Given the description of an element on the screen output the (x, y) to click on. 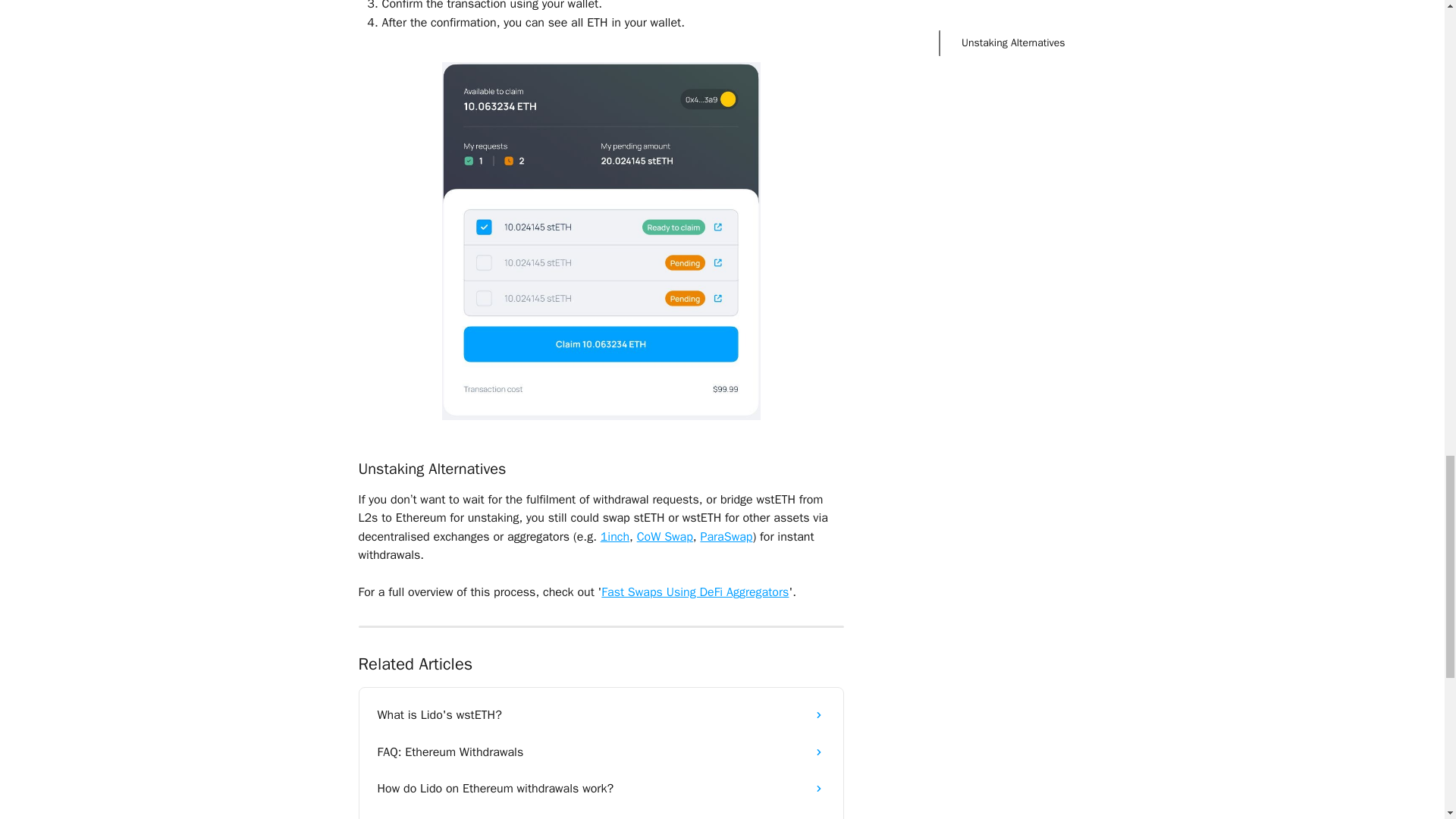
Swap to ETH using 1inch (601, 813)
CoW Swap (665, 536)
What is Lido's wstETH? (601, 714)
How do Lido on Ethereum withdrawals work? (601, 788)
Fast Swaps Using DeFi Aggregators (695, 591)
ParaSwap (726, 536)
FAQ: Ethereum Withdrawals (601, 751)
1inch (613, 536)
